Given the description of an element on the screen output the (x, y) to click on. 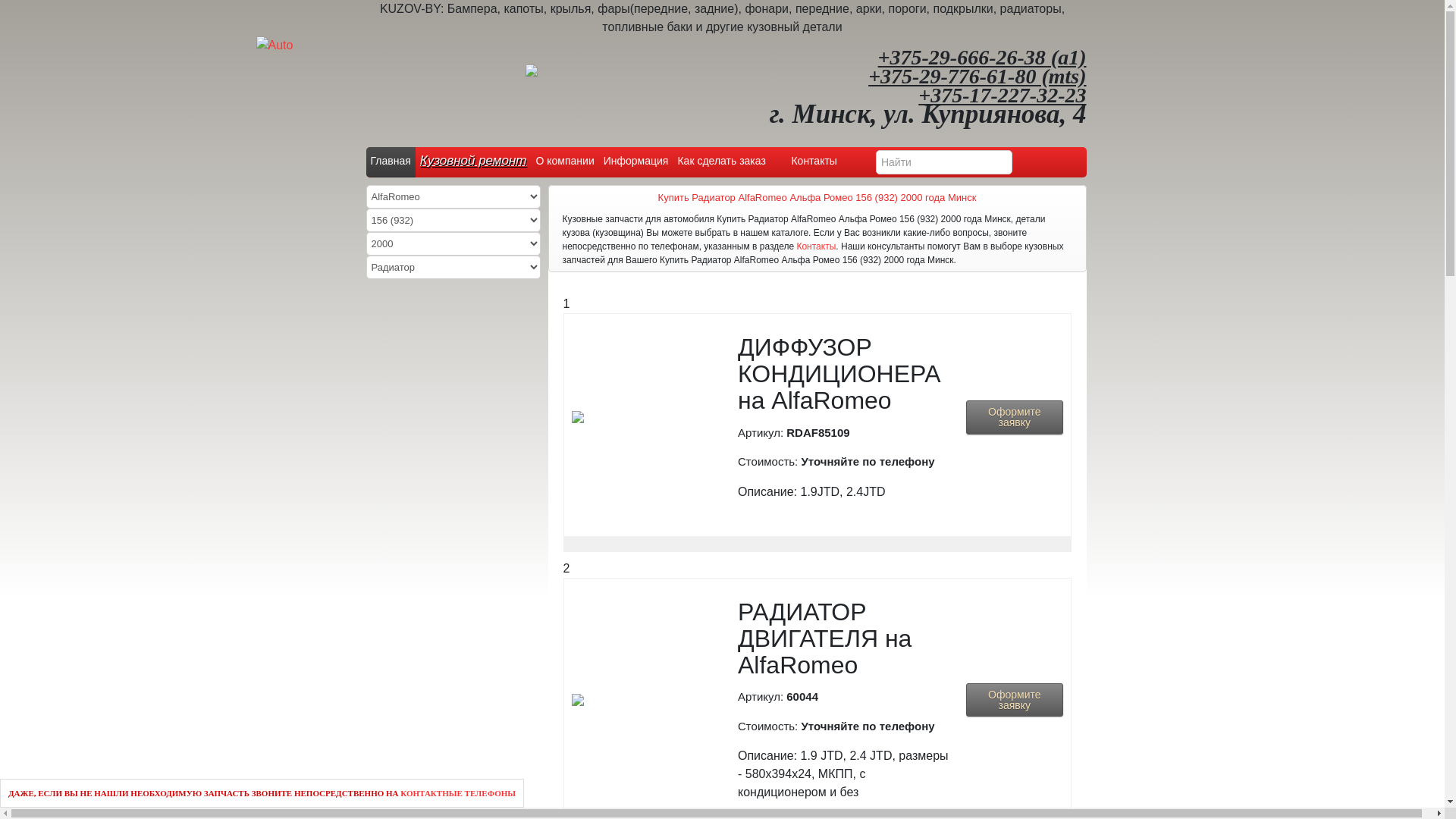
Auto Element type: hover (274, 45)
